Given the description of an element on the screen output the (x, y) to click on. 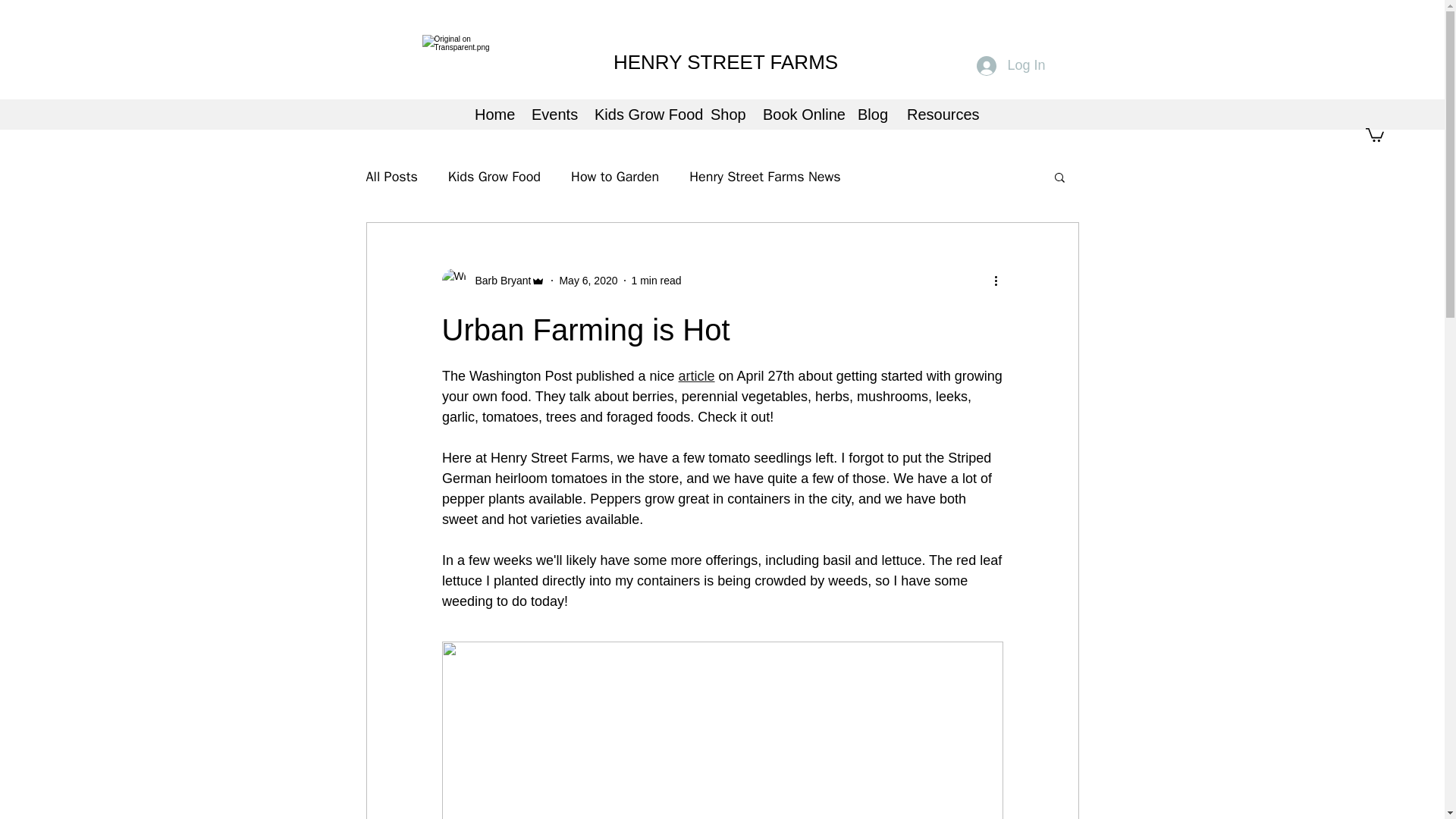
Log In (1010, 65)
Book Online (798, 114)
1 min read (655, 280)
May 6, 2020 (588, 280)
Barb Bryant (492, 280)
Henry Street Farms News (764, 176)
Barb Bryant (498, 280)
Kids Grow Food (494, 176)
Blog (870, 114)
Events (551, 114)
